Given the description of an element on the screen output the (x, y) to click on. 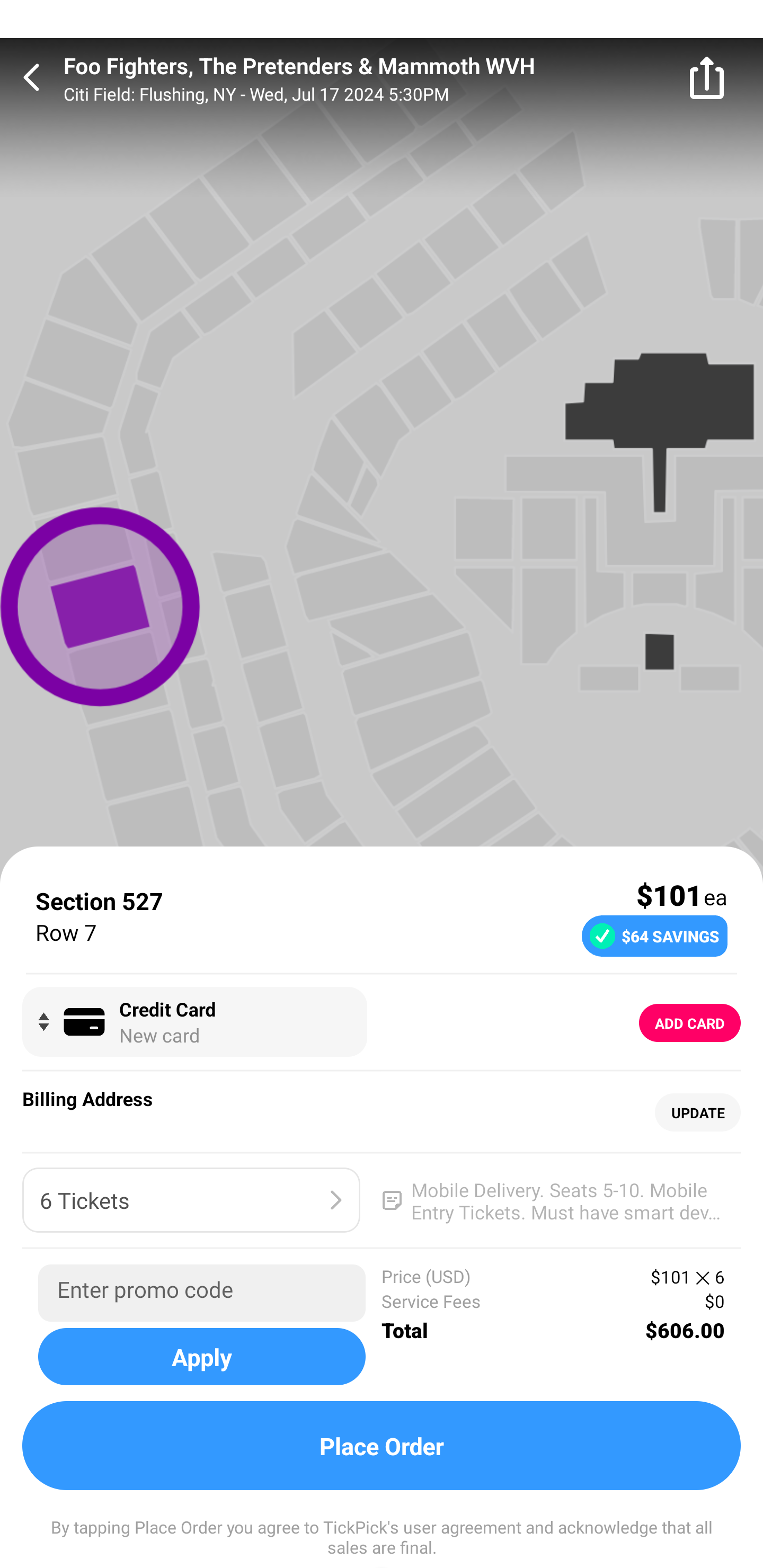
$64 SAVINGS (654, 935)
Credit Card, New card Credit Card New card (194, 1021)
ADD CARD (689, 1022)
UPDATE (697, 1112)
6 Tickets (191, 1200)
Enter promo code (201, 1292)
Apply (201, 1356)
Place Order (381, 1445)
